Given the description of an element on the screen output the (x, y) to click on. 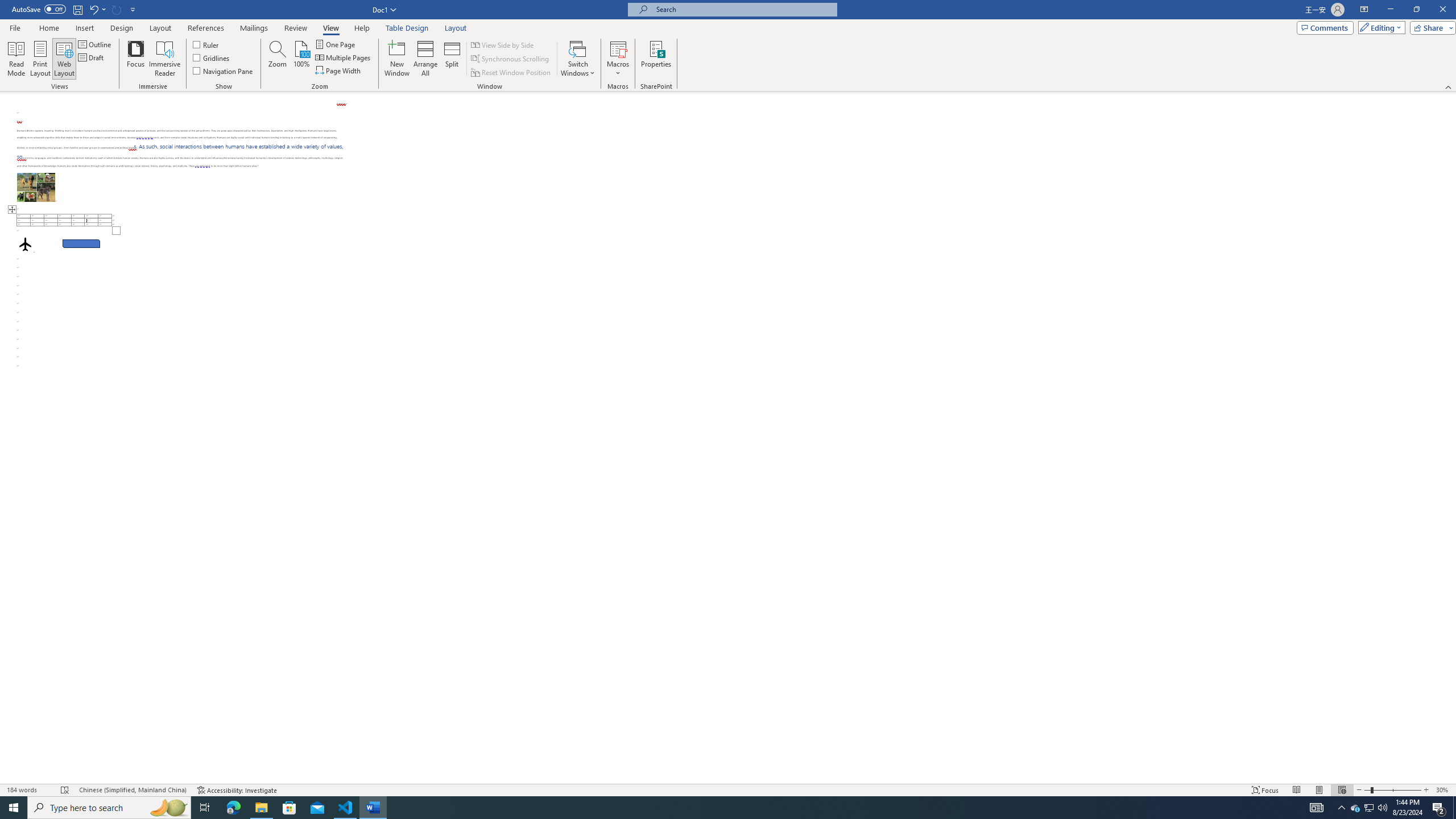
Review (295, 28)
Restore Down (1416, 9)
More Options (617, 68)
Undo Row Height Spinner (92, 9)
View Macros (617, 48)
Rectangle: Diagonal Corners Snipped 2 (81, 243)
View (330, 28)
Reset Window Position (511, 72)
Collapse the Ribbon (1448, 86)
Arrange All (425, 58)
Layout (455, 28)
Editing (1379, 27)
Airplane with solid fill (25, 243)
Navigation Pane (223, 69)
